Given the description of an element on the screen output the (x, y) to click on. 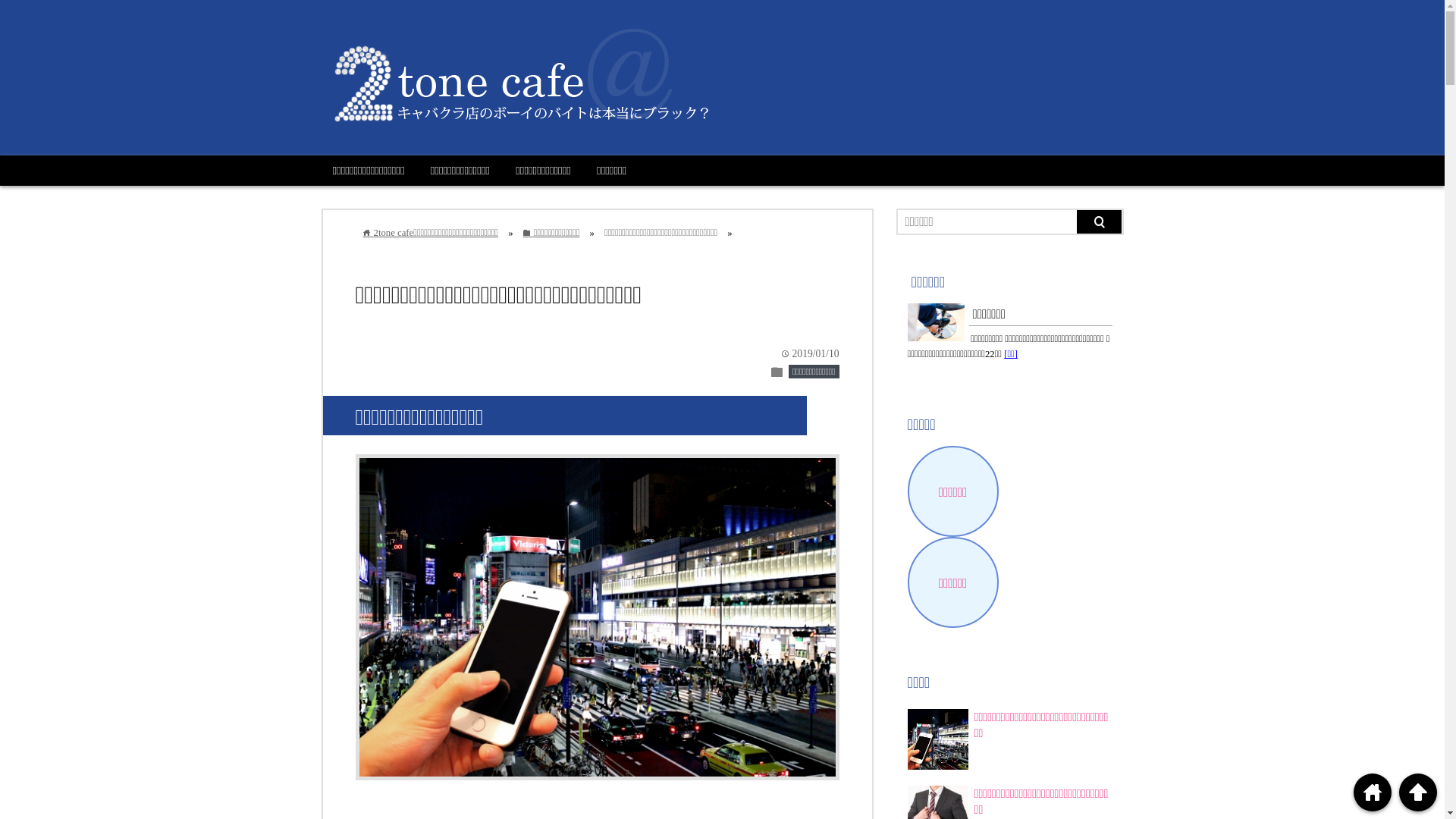
search Element type: text (1098, 221)
